Given the description of an element on the screen output the (x, y) to click on. 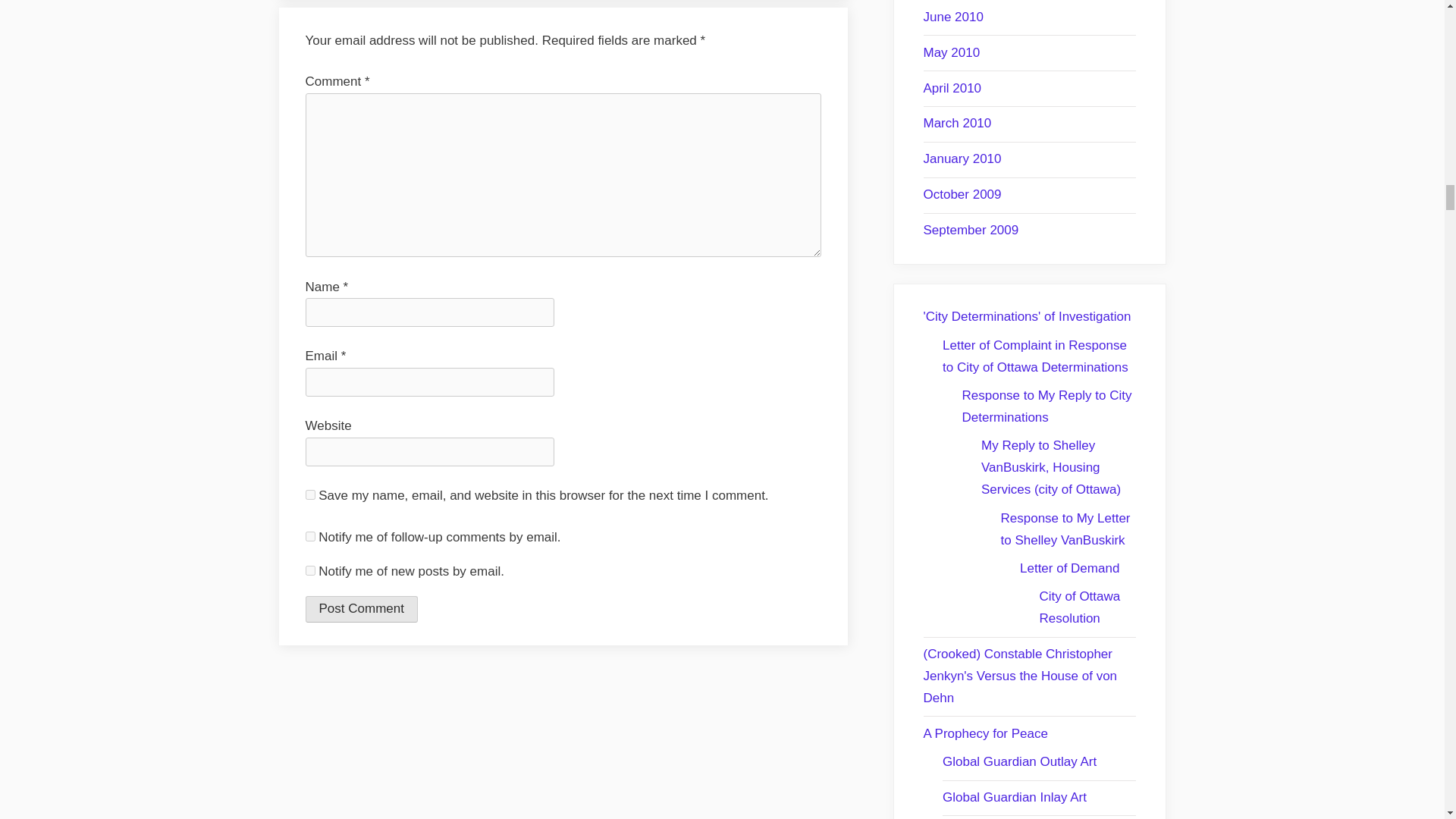
Post Comment (360, 608)
yes (309, 494)
subscribe (309, 570)
subscribe (309, 536)
Post Comment (360, 608)
